Given the description of an element on the screen output the (x, y) to click on. 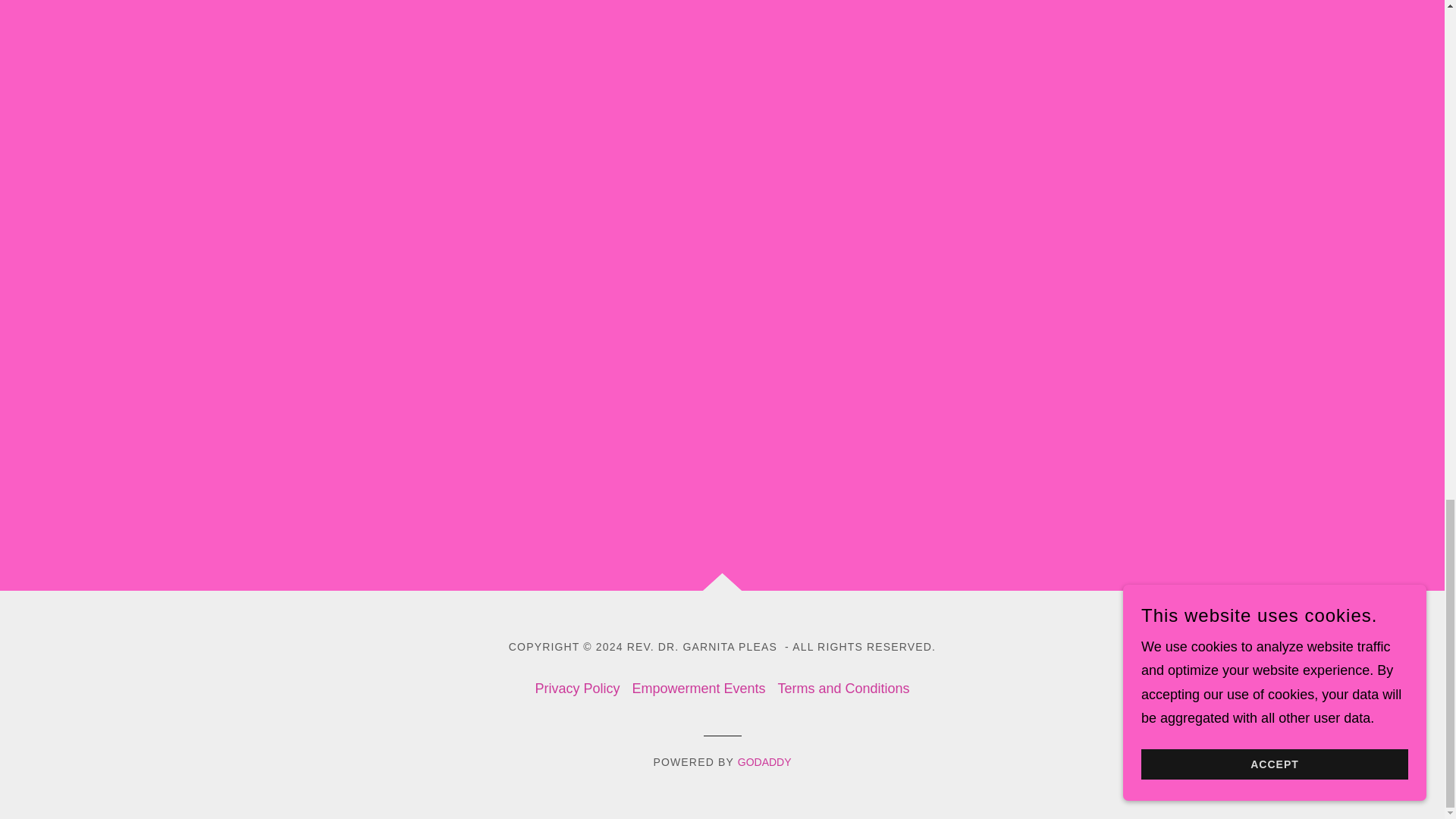
Privacy Policy (577, 688)
Empowerment Events (698, 688)
GODADDY (765, 761)
Terms and Conditions (843, 688)
